Given the description of an element on the screen output the (x, y) to click on. 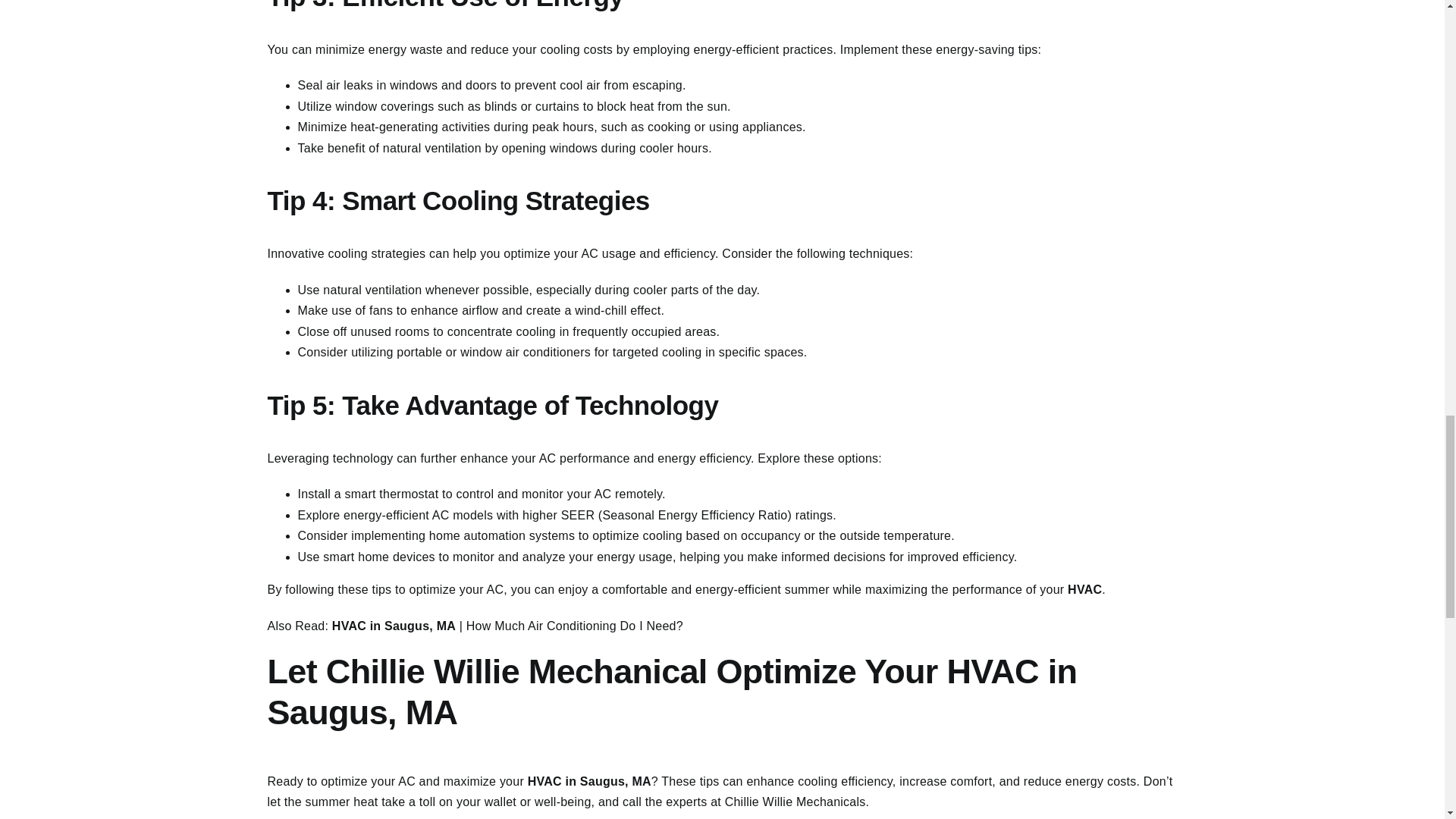
Chillie Willie Mechanicals (795, 801)
